Given the description of an element on the screen output the (x, y) to click on. 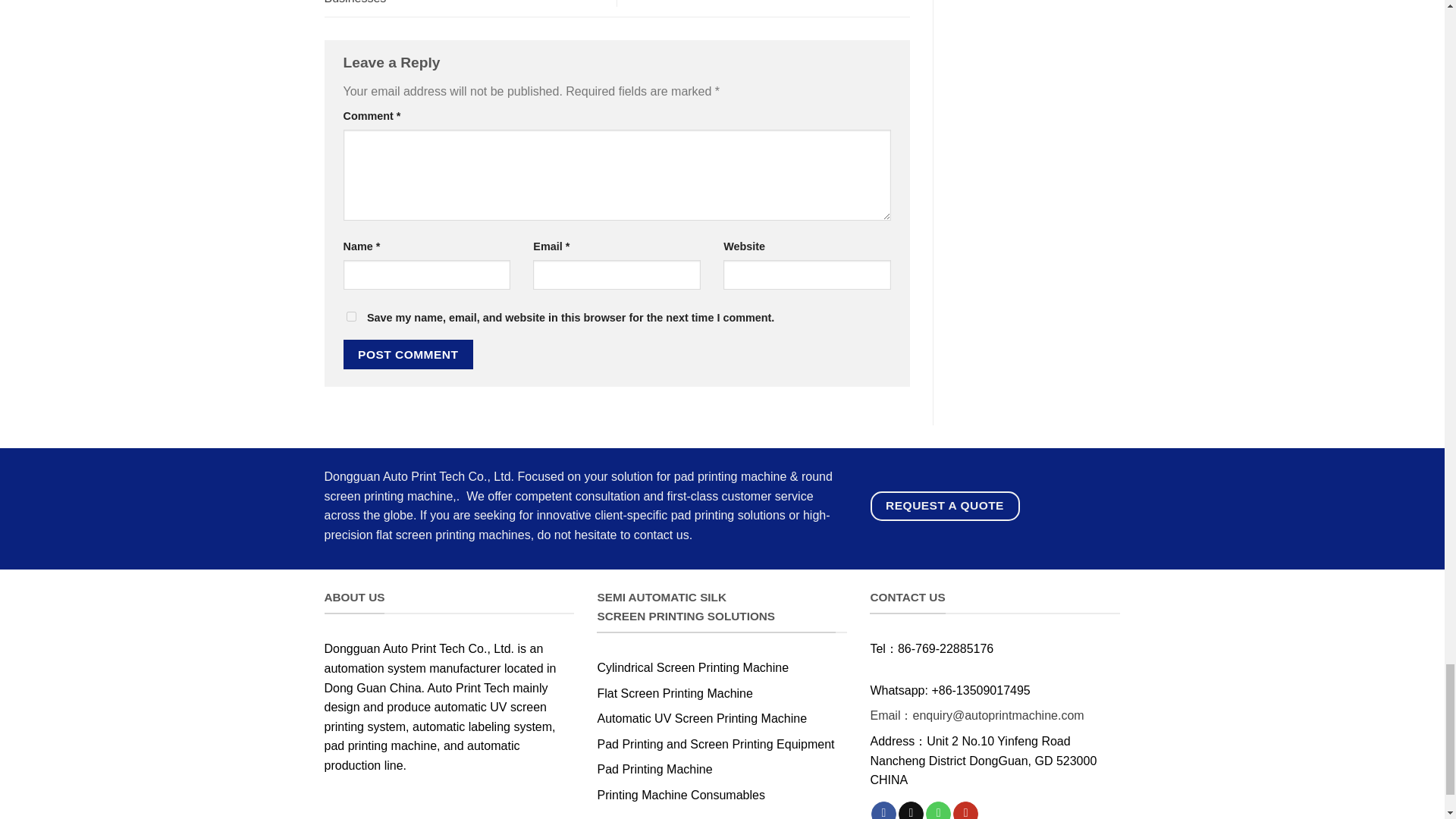
5 Best Screen Printing Machines for Small Businesses (451, 2)
yes (350, 316)
Post Comment (407, 354)
